Given the description of an element on the screen output the (x, y) to click on. 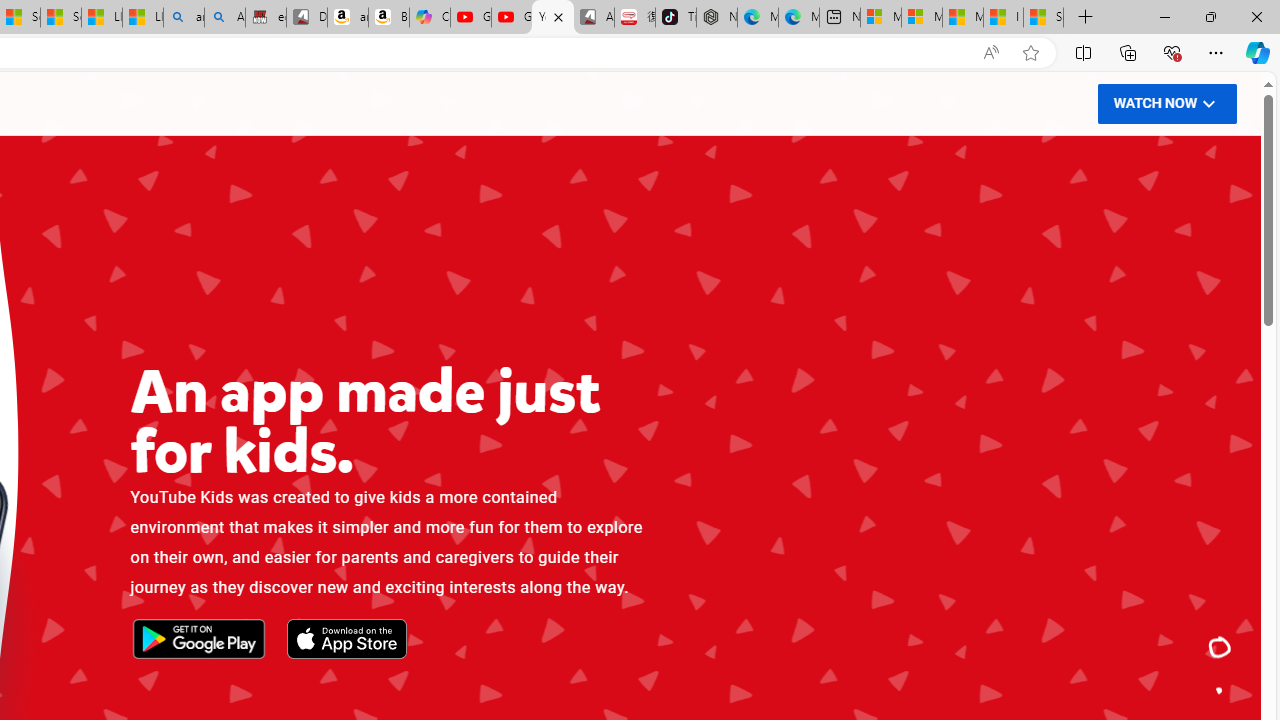
Class: ytk-dot-nav__circle (1219, 690)
TikTok (675, 17)
An app made just for kids. (1219, 647)
I Gained 20 Pounds of Muscle in 30 Days! | Watch (1003, 17)
Class: ytk__arrow-link-icon (1208, 102)
Copilot (429, 17)
Get it on Google Play (198, 639)
WATCH NOW (1166, 102)
